Given the description of an element on the screen output the (x, y) to click on. 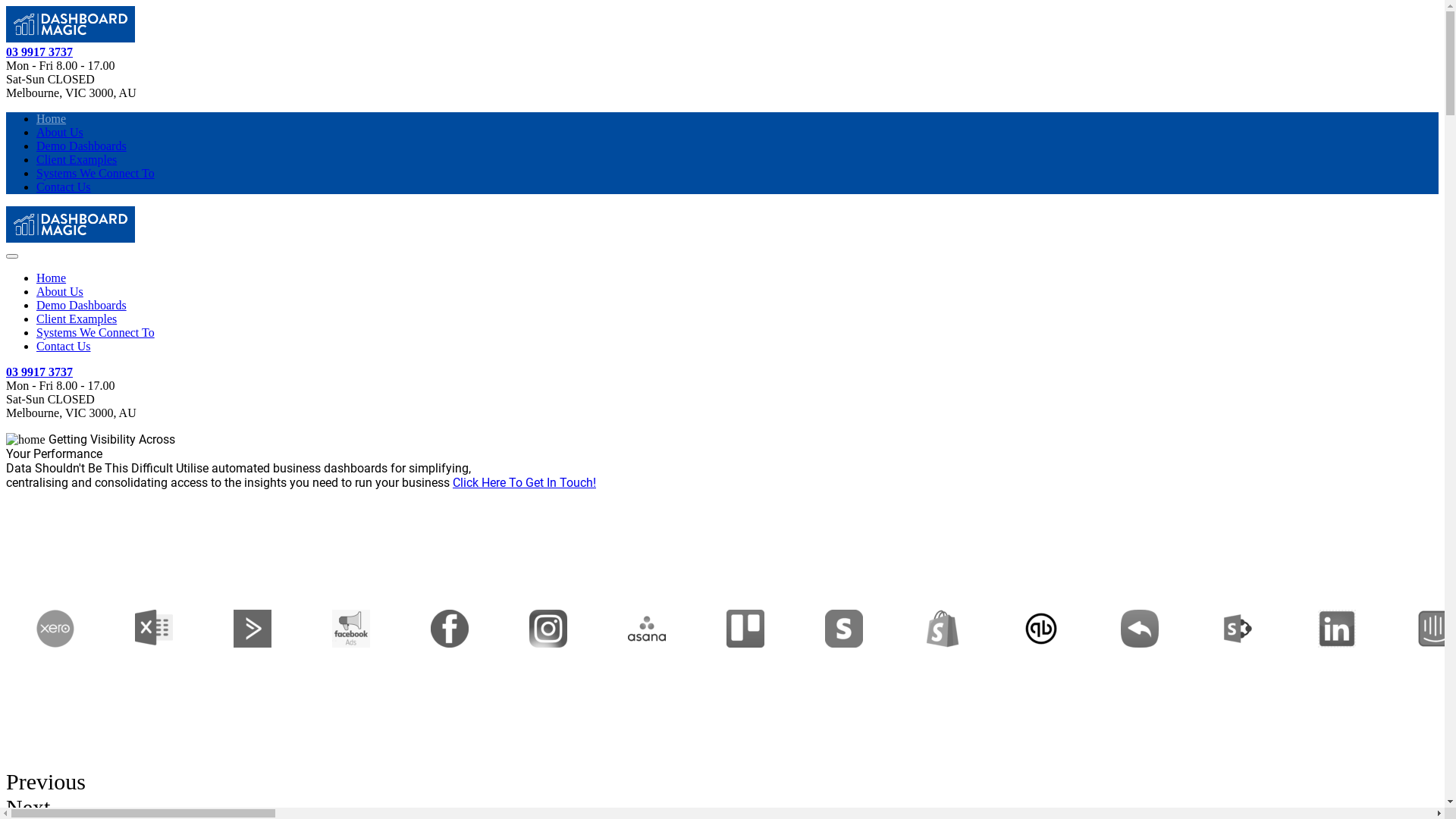
03 9917 3737 Element type: text (39, 51)
home Element type: hover (25, 439)
Client Examples Element type: text (76, 318)
Systems We Connect To Element type: text (95, 332)
Contact Us Element type: text (63, 186)
Client Examples Element type: text (76, 159)
Systems We Connect To Element type: text (95, 172)
Click Here To Get In Touch! Element type: text (524, 482)
03 9917 3737 Element type: text (39, 371)
About Us Element type: text (59, 291)
Demo Dashboards Element type: text (81, 304)
Contact Us Element type: text (63, 345)
Demo Dashboards Element type: text (81, 145)
About Us Element type: text (59, 131)
Home Element type: text (50, 277)
Home Element type: text (50, 118)
